Given the description of an element on the screen output the (x, y) to click on. 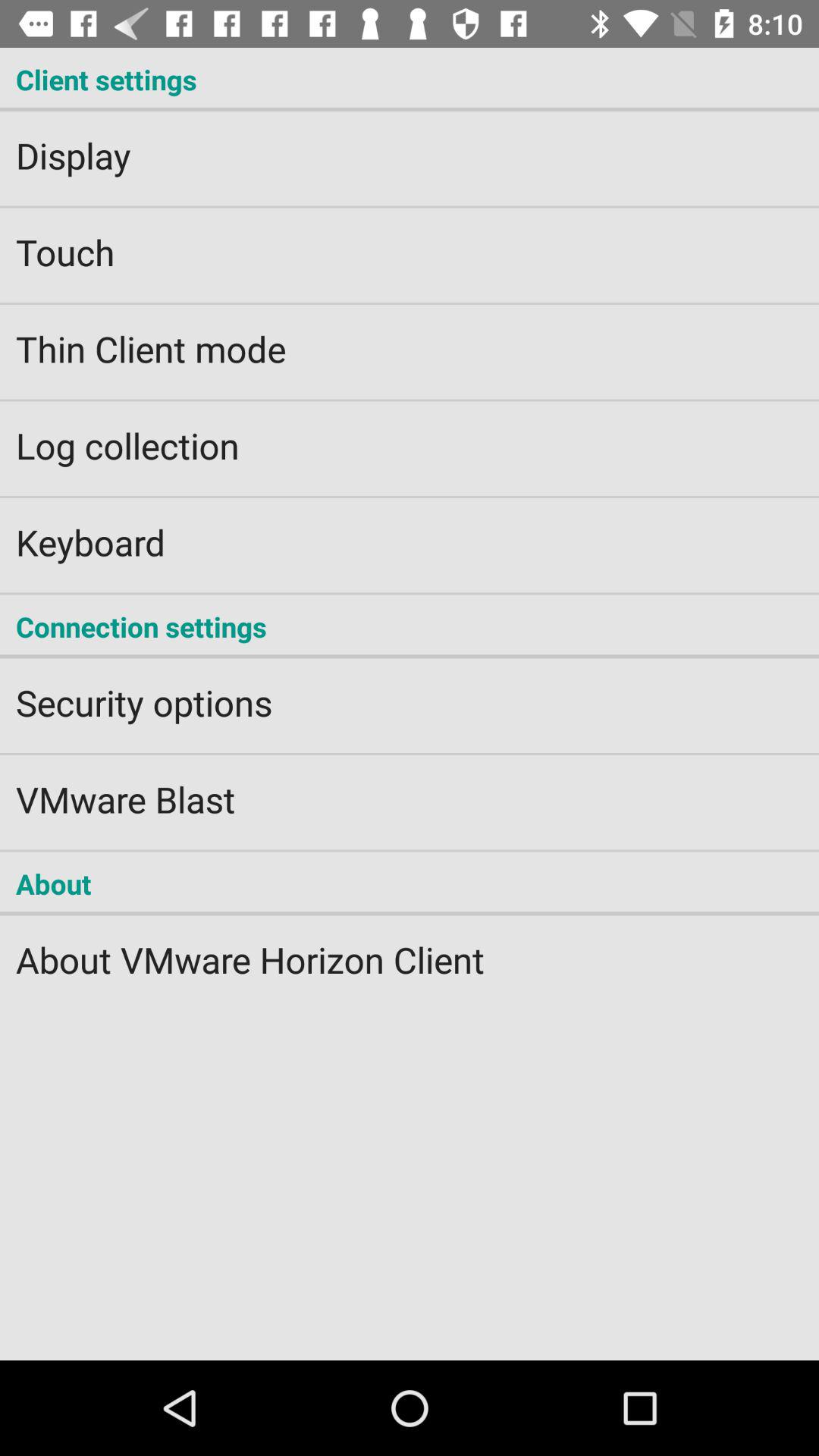
swipe to the connection settings icon (409, 626)
